Given the description of an element on the screen output the (x, y) to click on. 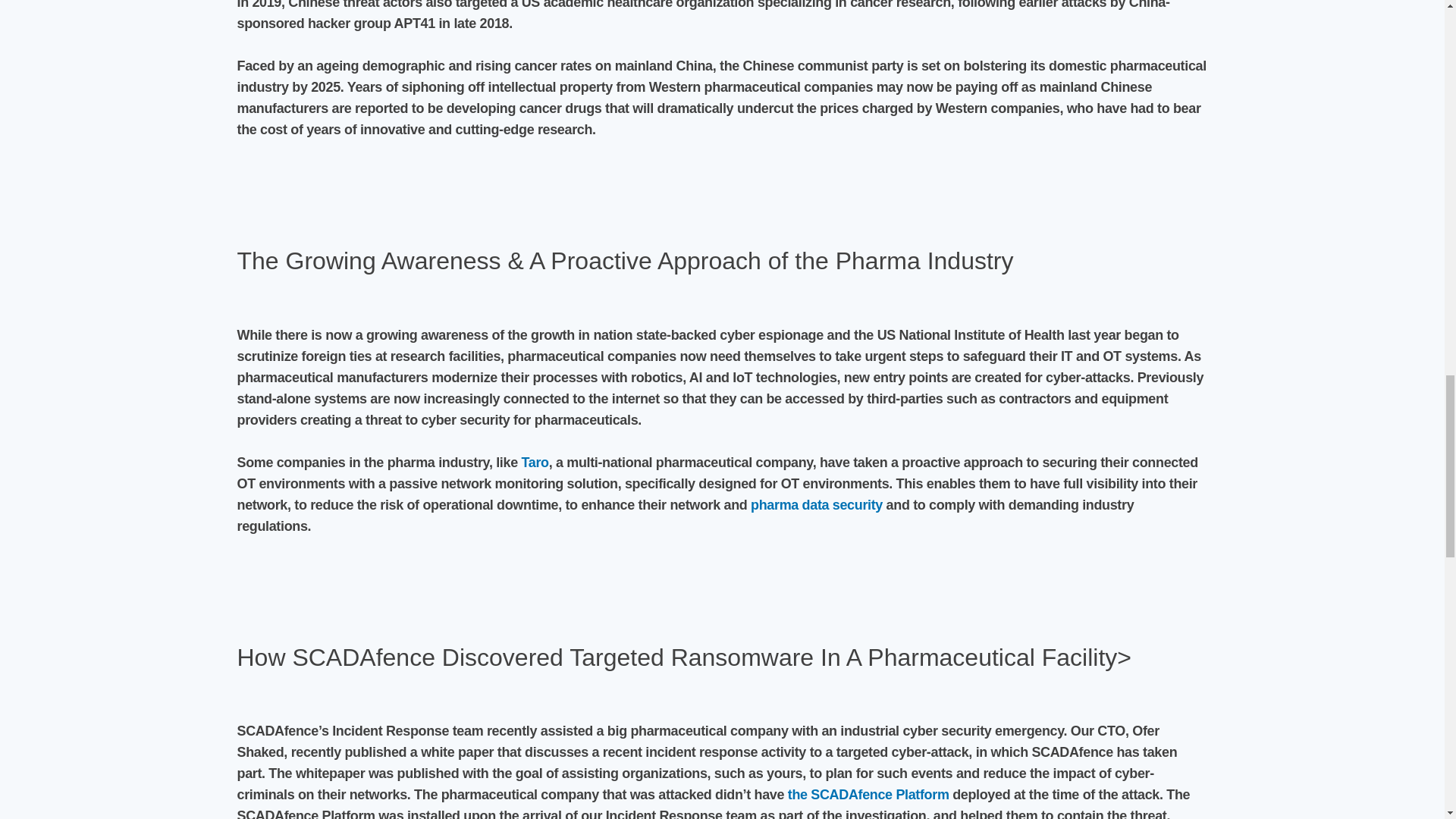
Taro (534, 462)
pharma data security (816, 504)
the SCADAfence Platform (868, 794)
